Given the description of an element on the screen output the (x, y) to click on. 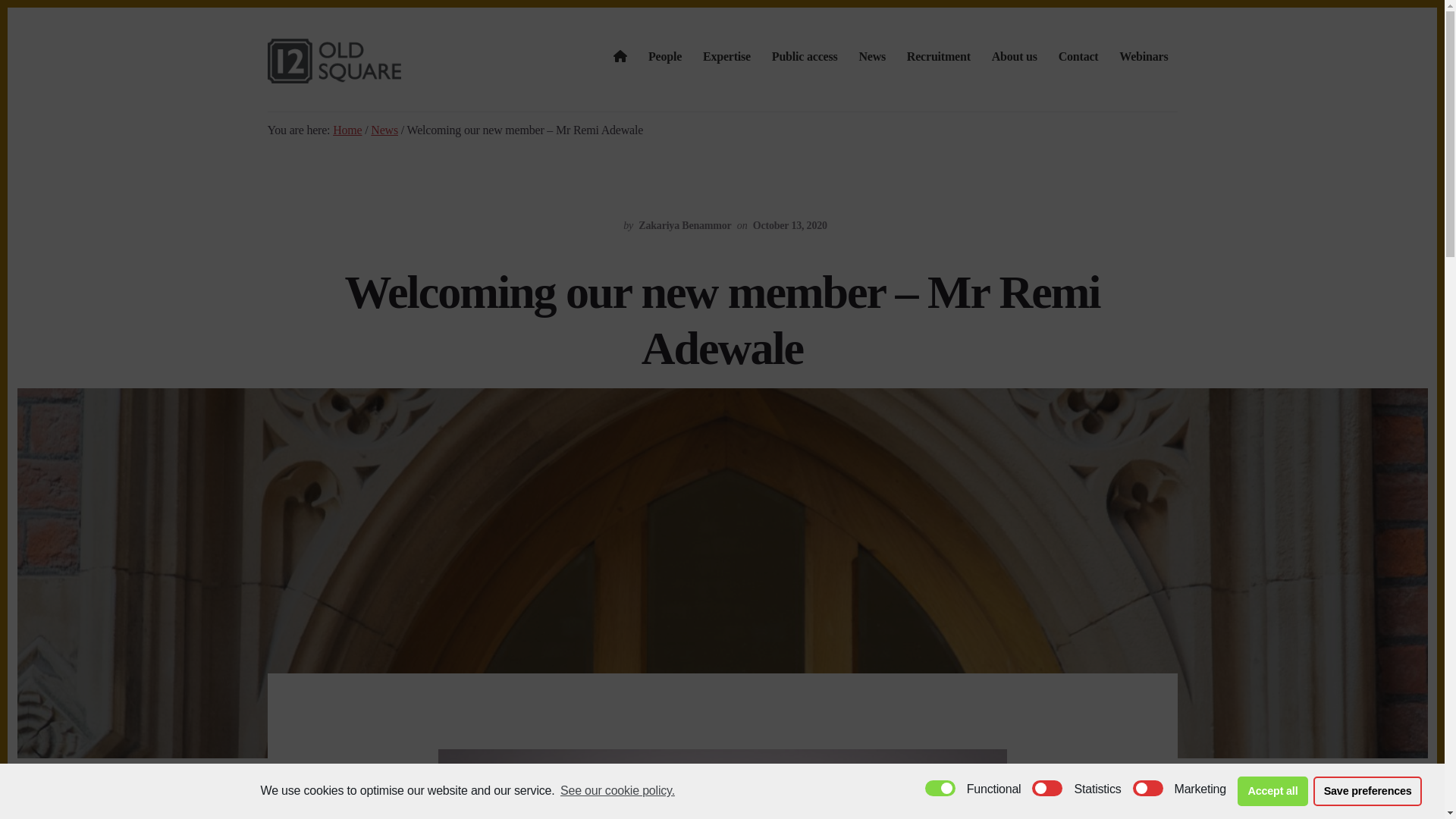
Public access (804, 58)
Contact (1078, 58)
Expertise (727, 58)
News (872, 58)
News (384, 129)
Accept all (1272, 791)
People (664, 58)
Zakariya Benammor (683, 225)
Webinars (1143, 58)
